Given the description of an element on the screen output the (x, y) to click on. 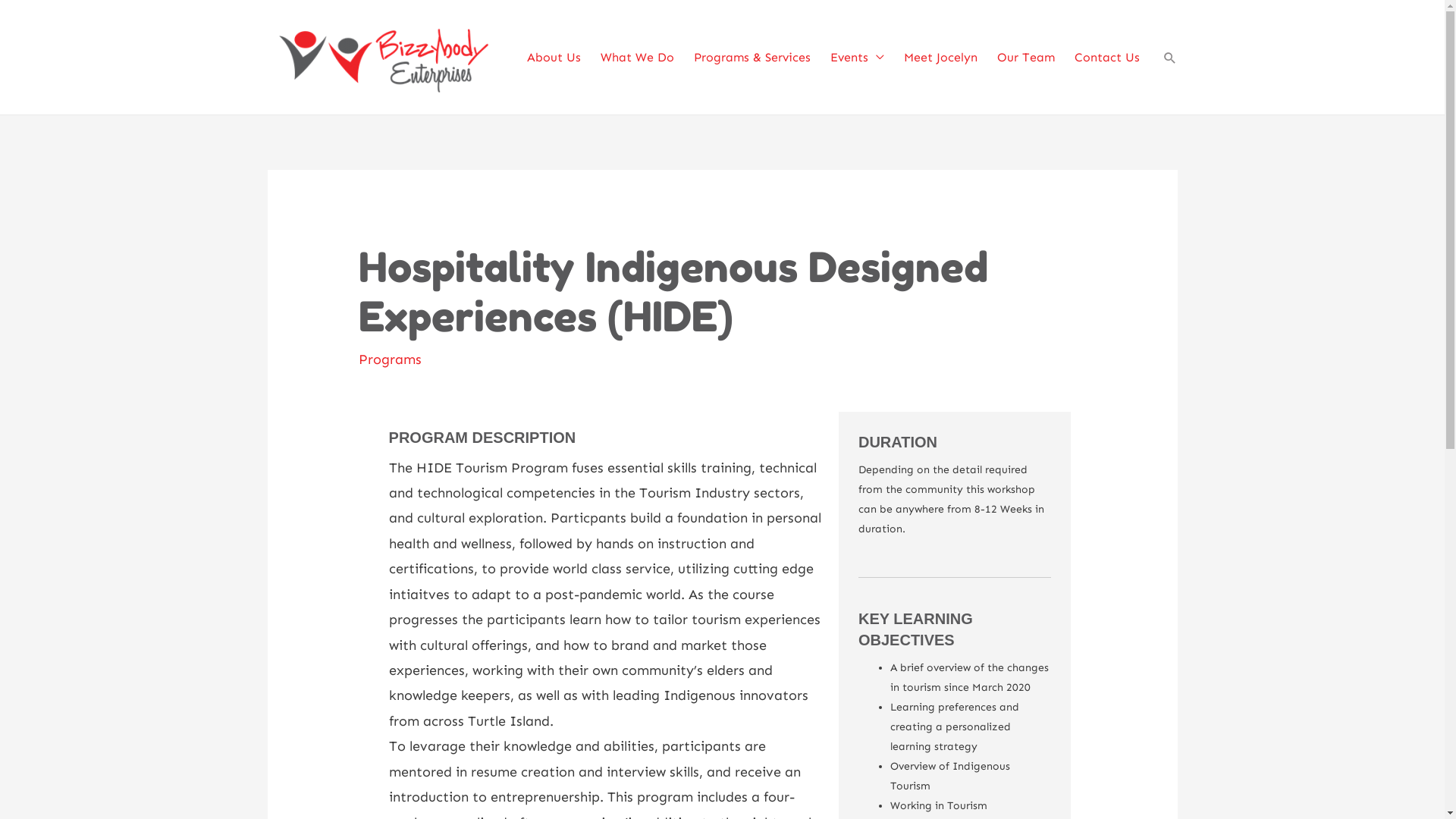
Meet Jocelyn Element type: text (938, 57)
About Us Element type: text (550, 57)
Search Element type: text (37, 15)
What We Do Element type: text (634, 57)
Search Element type: text (1168, 57)
Contact Us Element type: text (1103, 57)
Programs Element type: text (389, 358)
Events Element type: text (854, 57)
Our Team Element type: text (1022, 57)
Programs & Services Element type: text (748, 57)
